Given the description of an element on the screen output the (x, y) to click on. 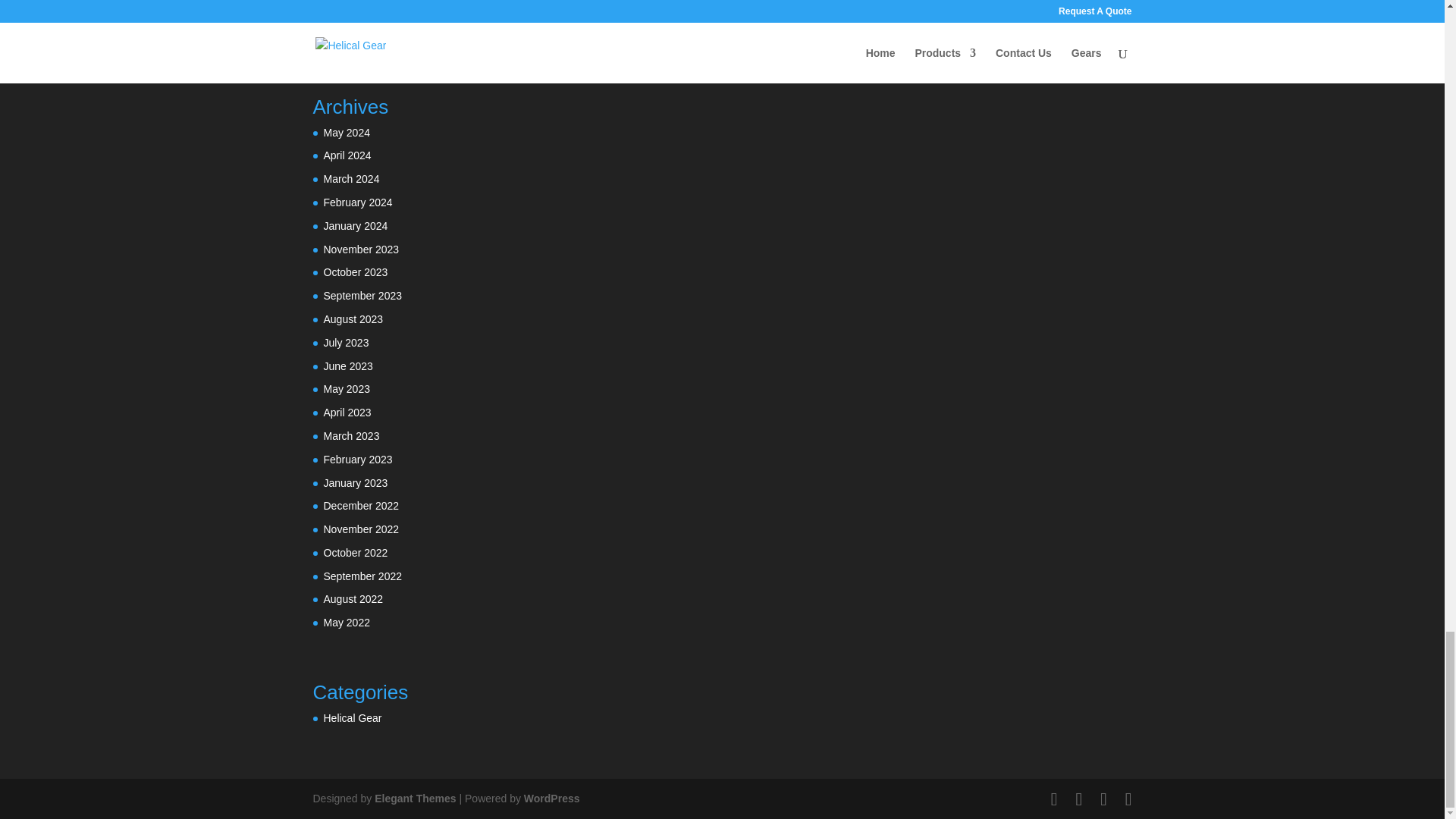
Premium WordPress Themes (414, 798)
